Given the description of an element on the screen output the (x, y) to click on. 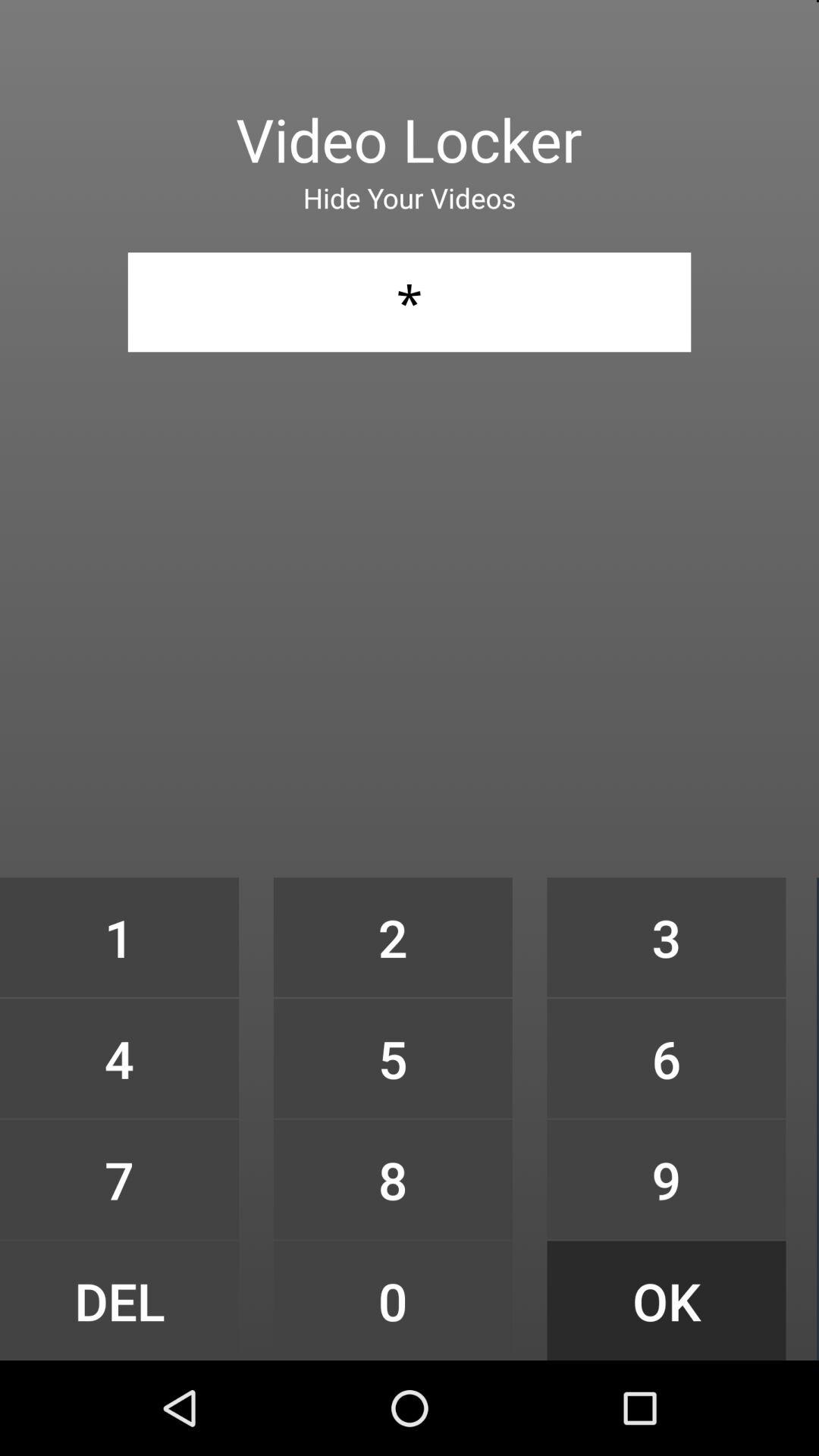
turn on item to the left of 6 icon (392, 1179)
